Given the description of an element on the screen output the (x, y) to click on. 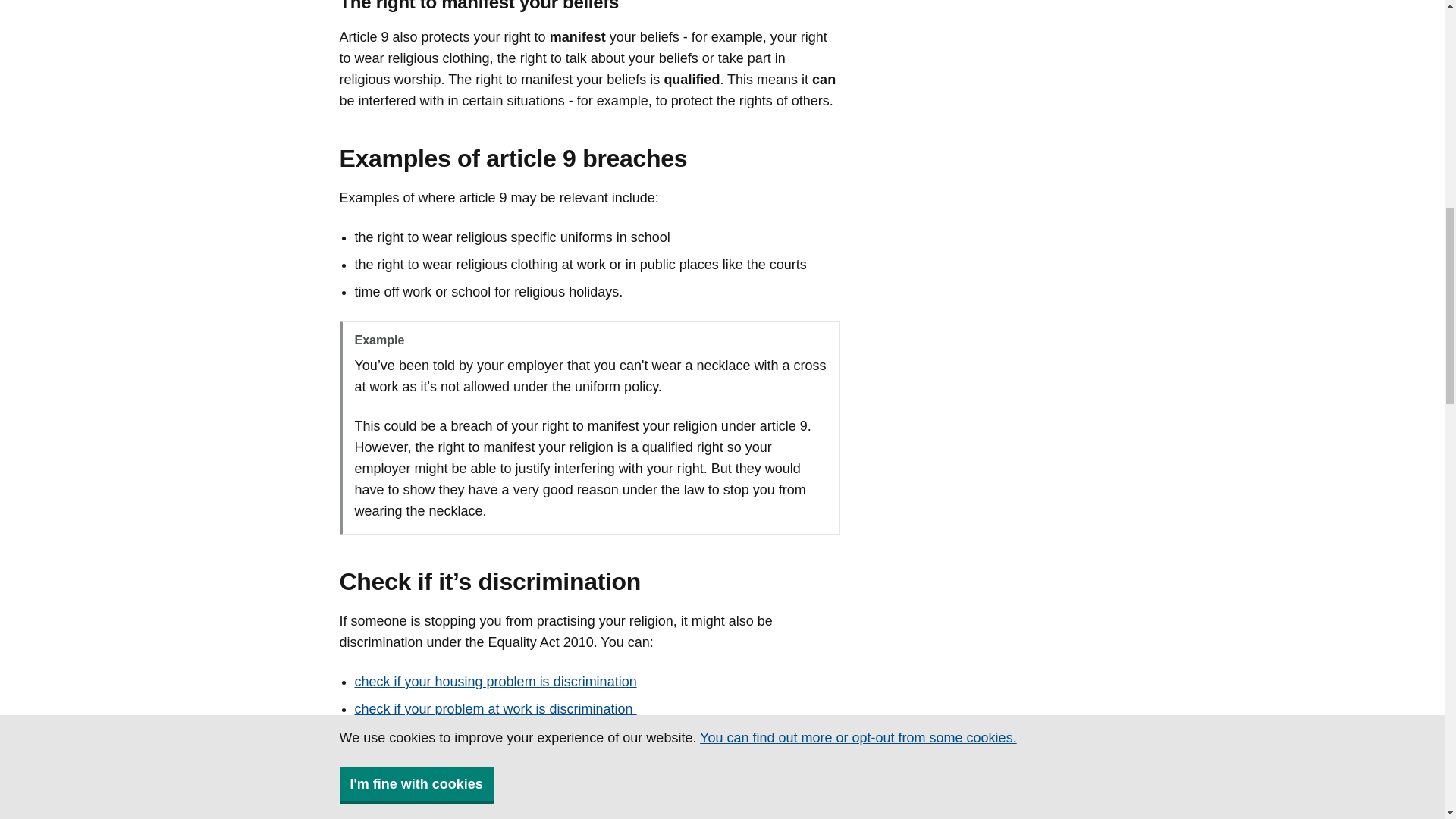
check if your problem at work is discrimination  (496, 708)
check if your housing problem is discrimination (496, 681)
What rights are protected under the Human Rights Act? (522, 806)
